Given the description of an element on the screen output the (x, y) to click on. 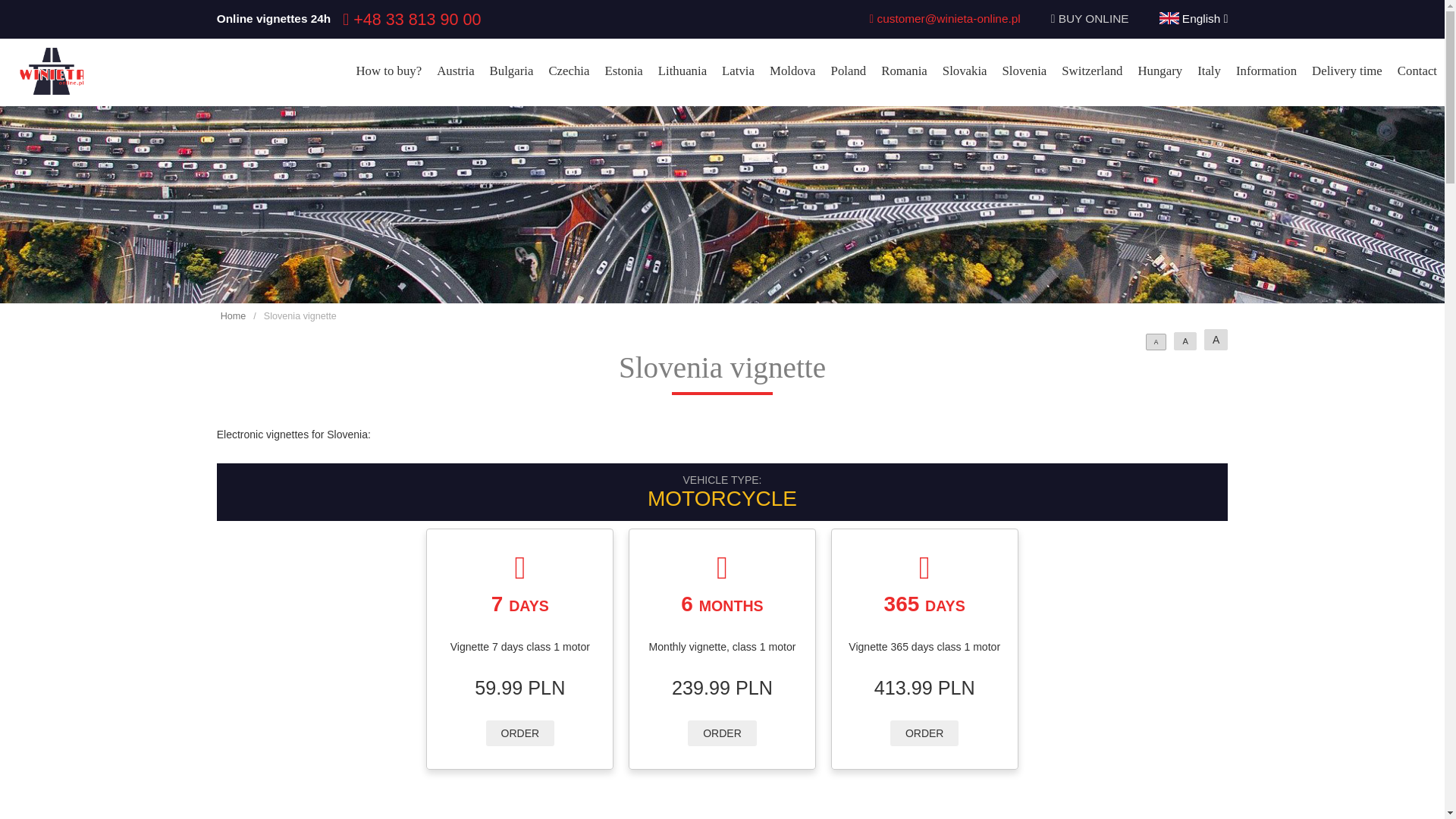
Information (1266, 70)
A (1184, 341)
Slovenia (1024, 70)
Hungary (1159, 70)
Italy (1208, 70)
BUY ONLINE (1093, 18)
A (1156, 341)
Slovakia (964, 70)
Estonia (622, 70)
Bulgaria (511, 70)
Moldova (792, 70)
Home (233, 316)
How to buy? (388, 70)
English (1193, 18)
A (1215, 339)
